Given the description of an element on the screen output the (x, y) to click on. 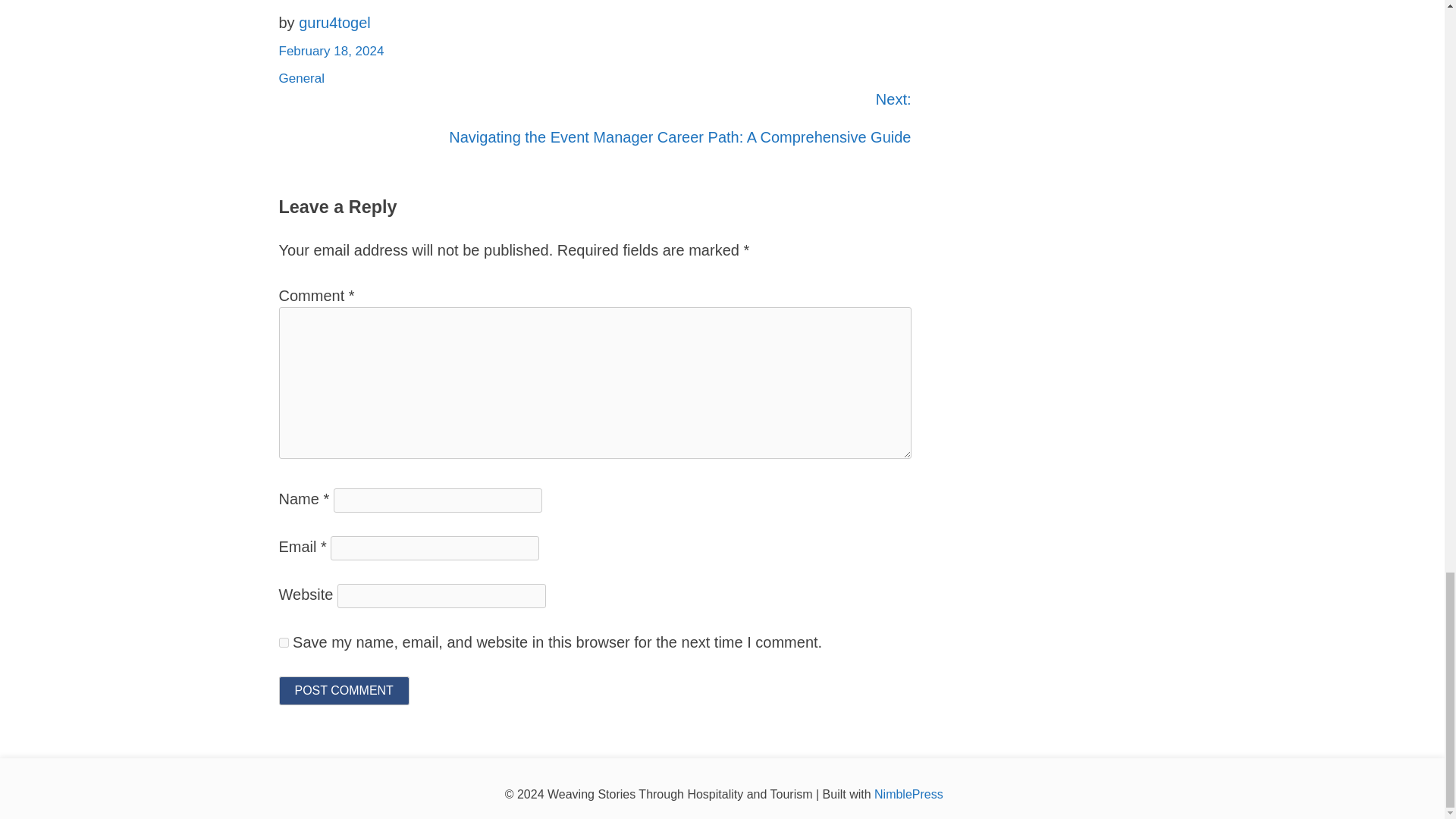
NimblePress (909, 794)
General (301, 78)
Post Comment (344, 690)
yes (283, 642)
February 18, 2024 (331, 51)
guru4togel (334, 22)
Post Comment (344, 690)
